Given the description of an element on the screen output the (x, y) to click on. 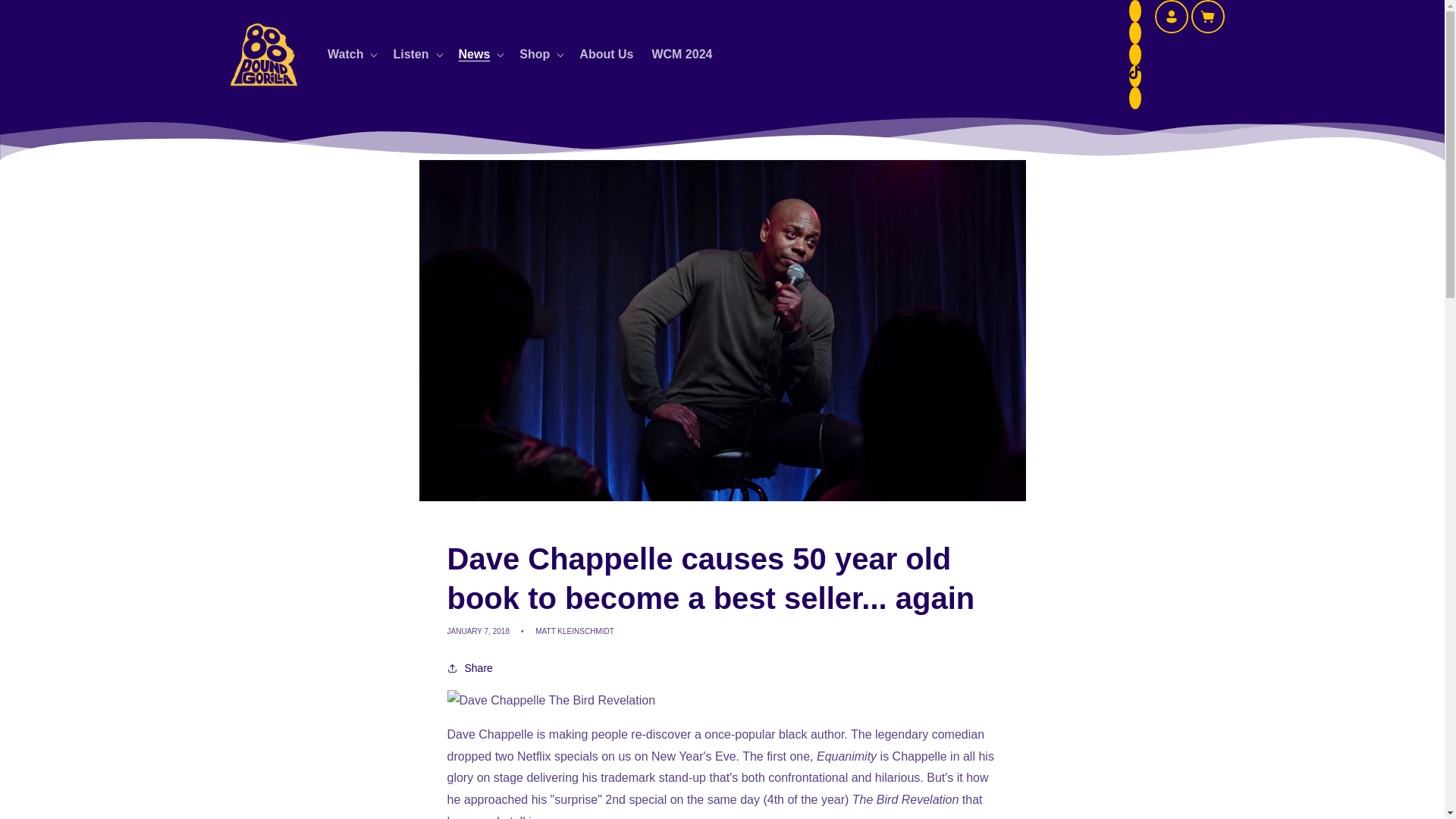
WCM 2024 (681, 54)
Skip to content (45, 17)
Log in (1171, 16)
About Us (606, 54)
